Given the description of an element on the screen output the (x, y) to click on. 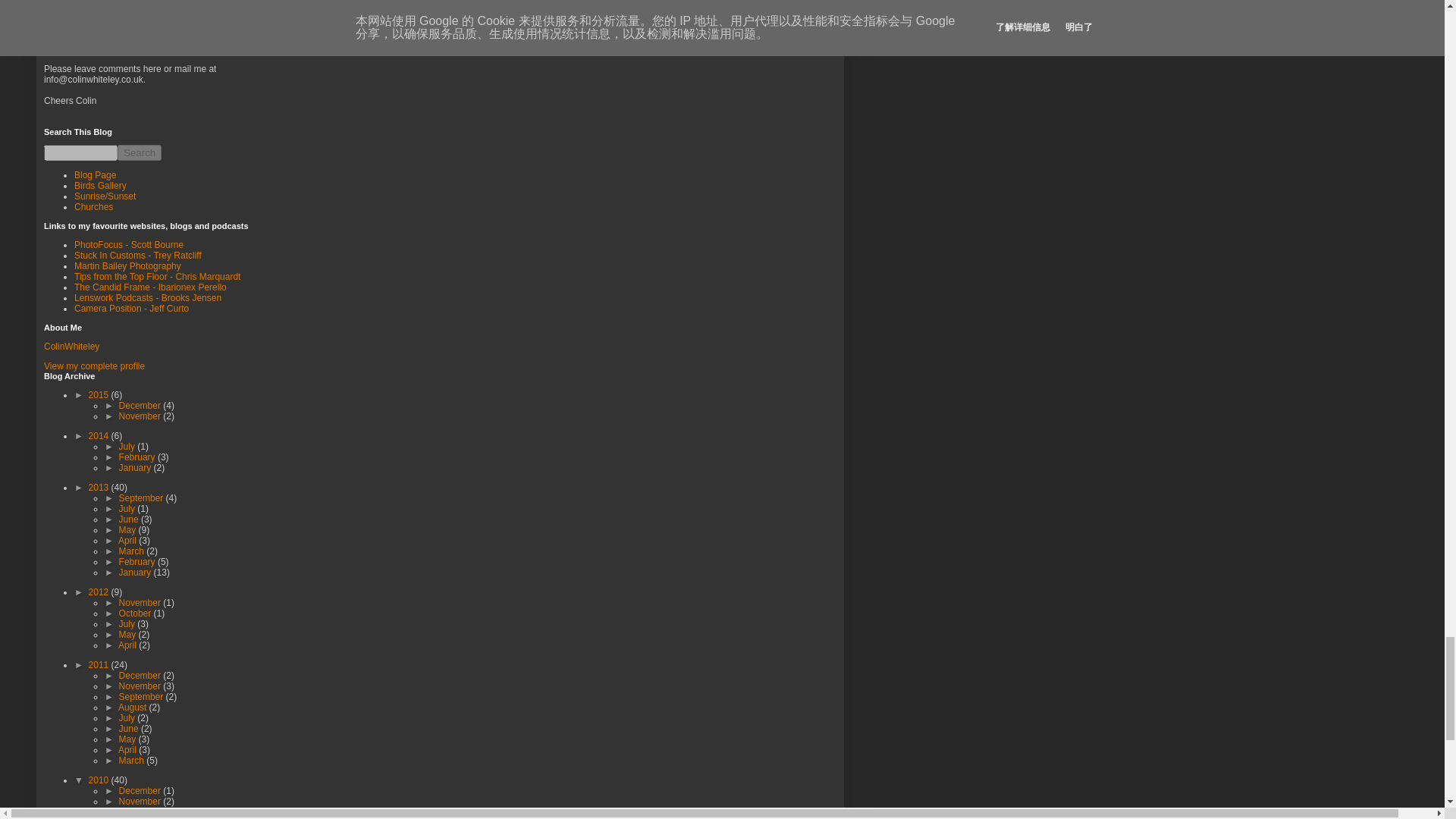
Search (139, 152)
search (139, 152)
Search (139, 152)
here (192, 36)
search (80, 152)
